Given the description of an element on the screen output the (x, y) to click on. 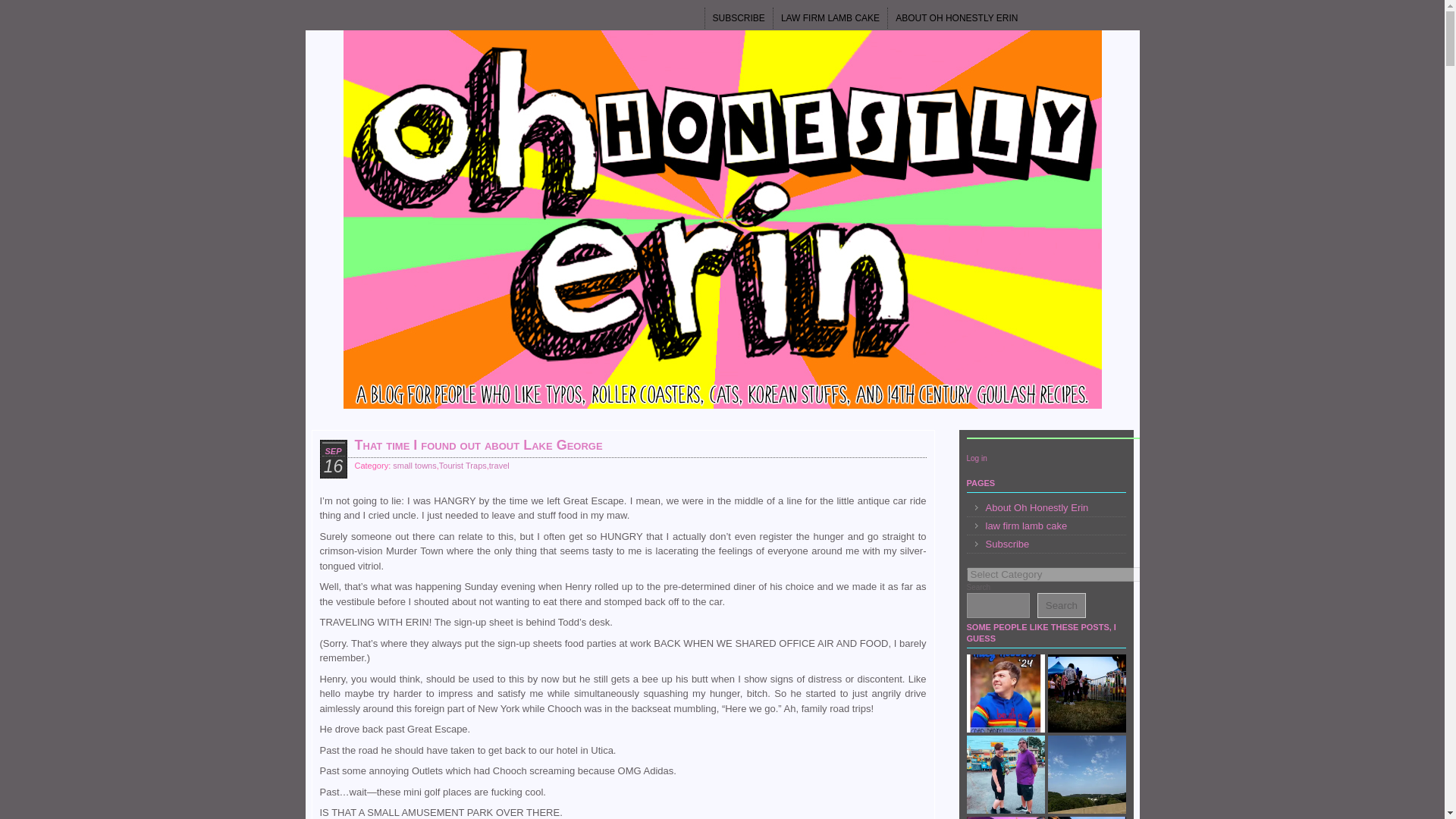
LAW FIRM LAMB CAKE (829, 17)
ABOUT OH HONESTLY ERIN (955, 17)
small towns (414, 465)
That time I found out about Lake George (478, 444)
About Oh Honestly Erin (1045, 507)
Log in (976, 458)
law firm lamb cake (1045, 525)
Subscribe (1045, 544)
travel (499, 465)
Search (1061, 605)
Tourist Traps (462, 465)
SUBSCRIBE (738, 17)
